Given the description of an element on the screen output the (x, y) to click on. 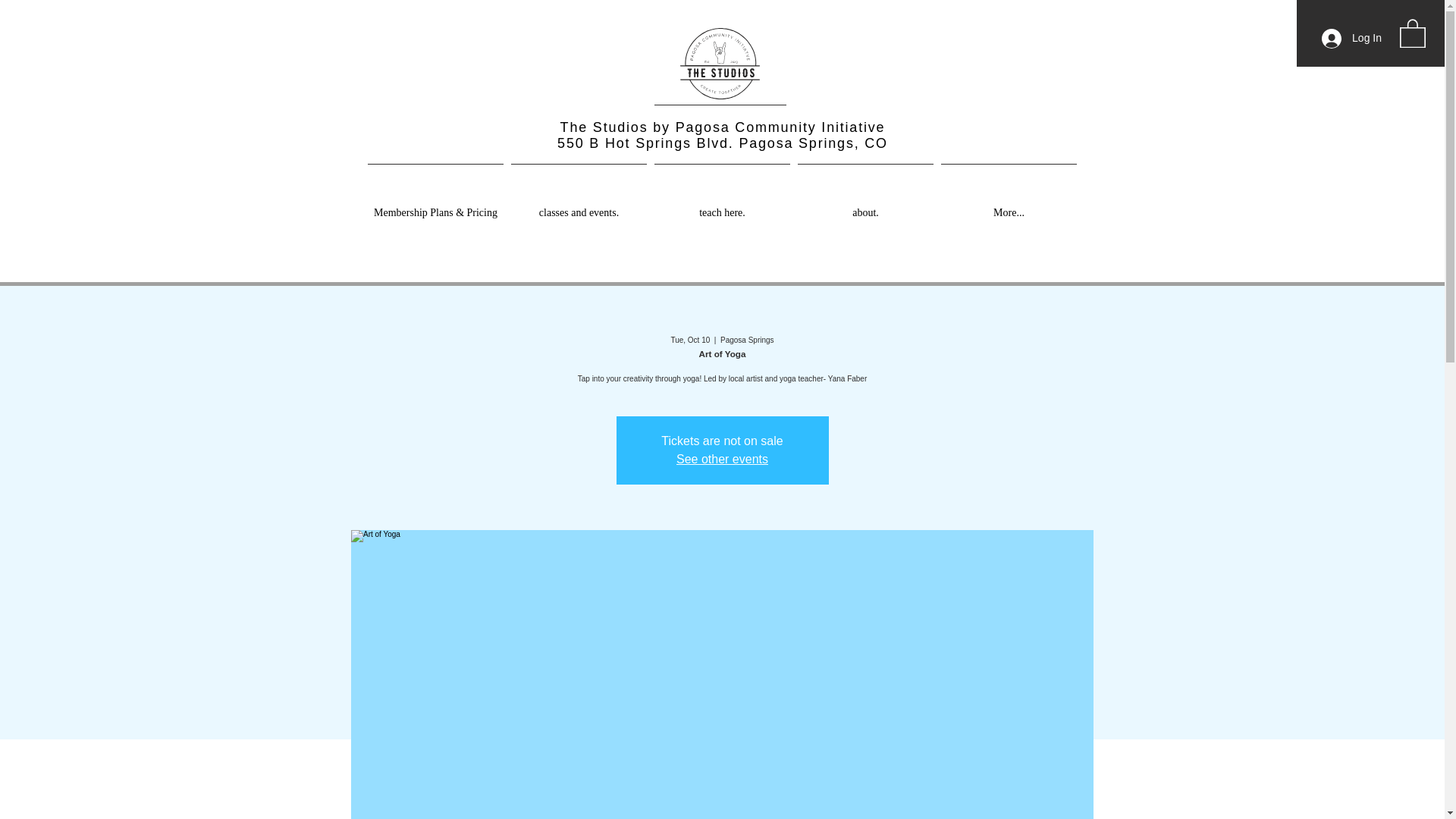
about. (865, 205)
See other events (722, 459)
teach here. (721, 205)
classes and events. (578, 205)
Log In (1351, 38)
